Given the description of an element on the screen output the (x, y) to click on. 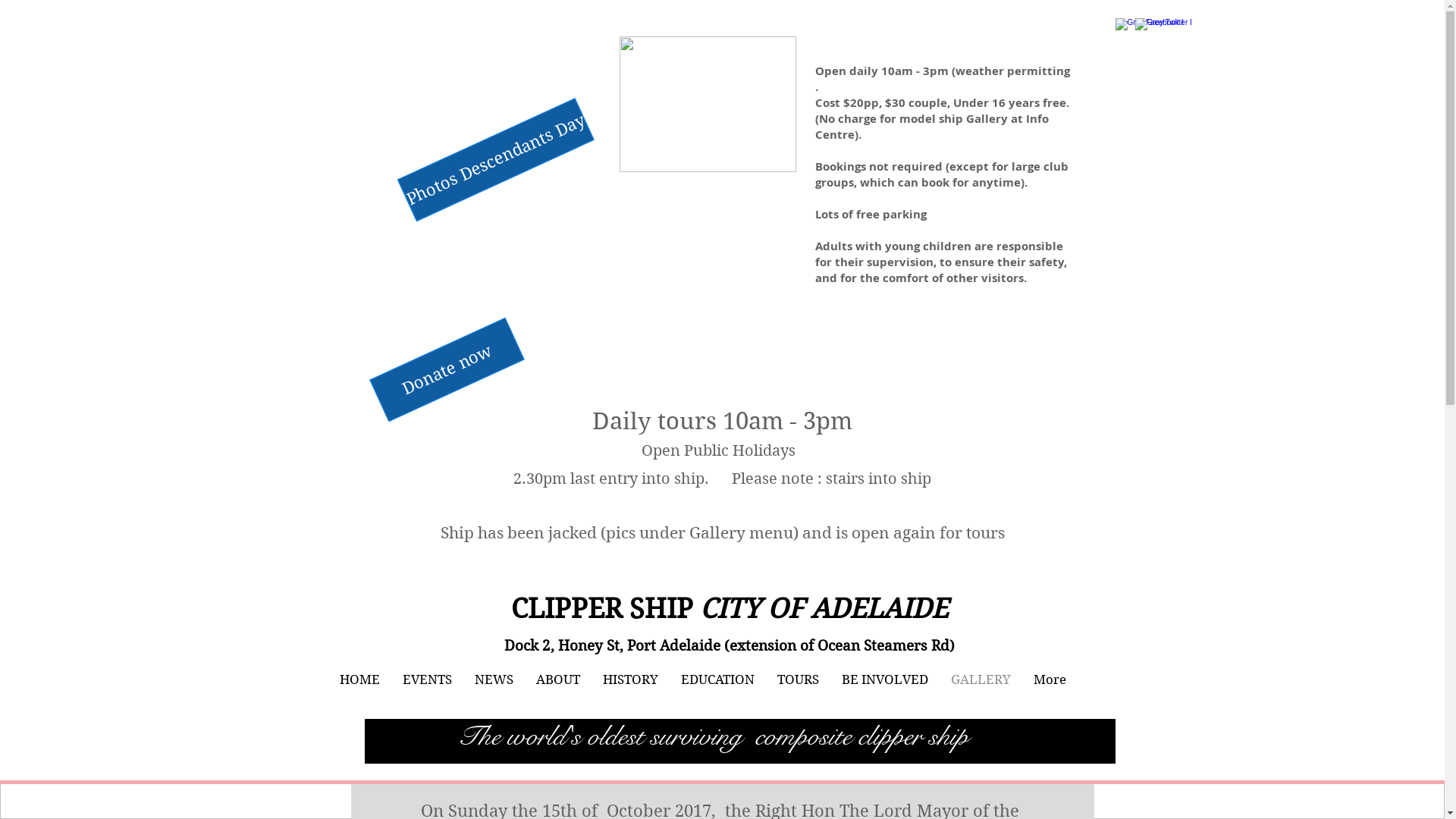
CLIPPER SHIP CITY OF ADELAIDE Element type: text (729, 608)
Donate now Element type: text (443, 340)
Photos Descendants Day Element type: text (494, 120)
NEWS Element type: text (493, 679)
TOURS Element type: text (797, 679)
BE INVOLVED Element type: text (883, 679)
ABOUT Element type: text (557, 679)
HOME Element type: text (358, 679)
EDUCATION Element type: text (716, 679)
GALLERY Element type: text (979, 679)
HISTORY Element type: text (630, 679)
EVENTS Element type: text (427, 679)
